Given the description of an element on the screen output the (x, y) to click on. 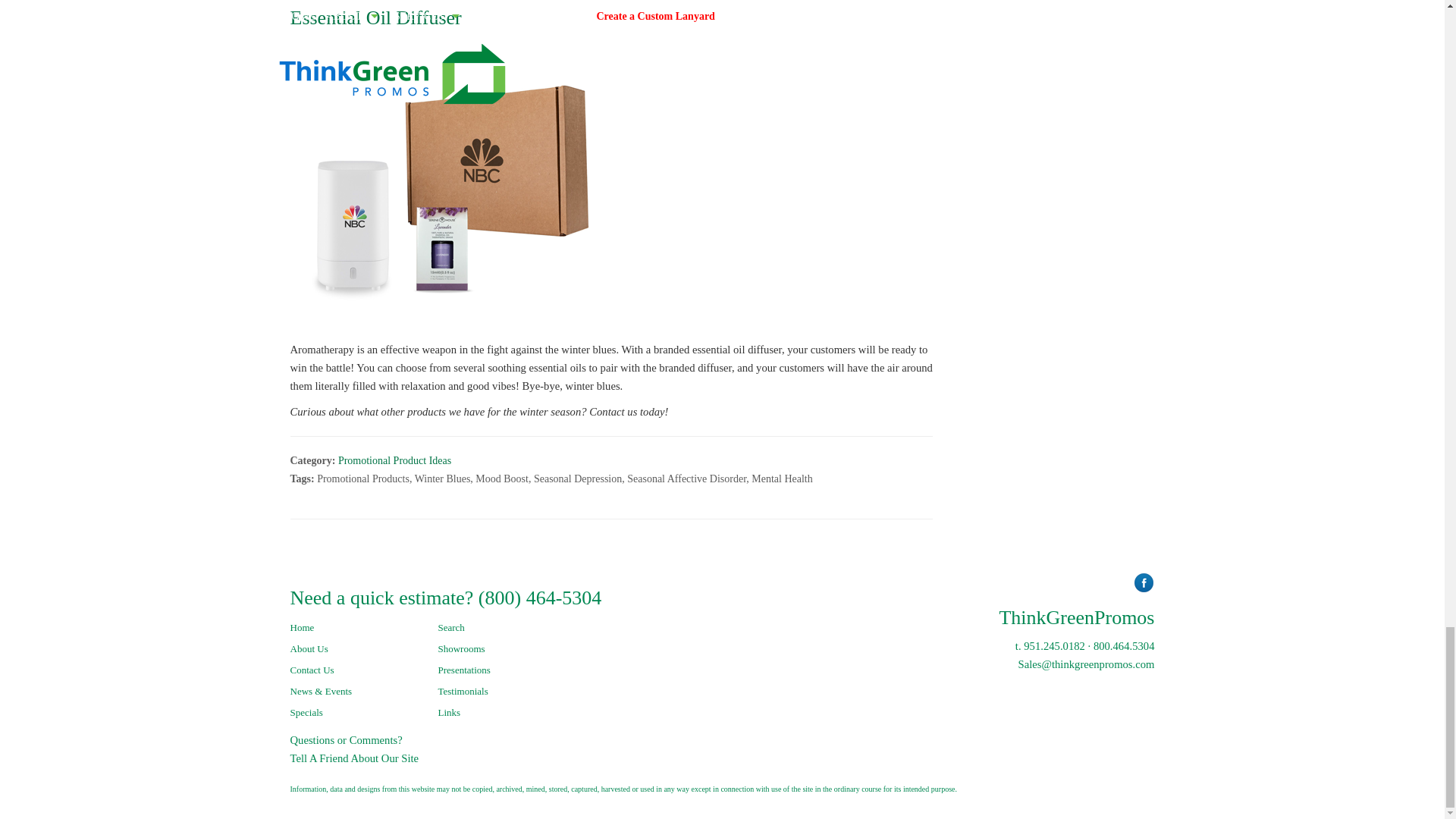
Visit us on Facebook (1143, 581)
